Given the description of an element on the screen output the (x, y) to click on. 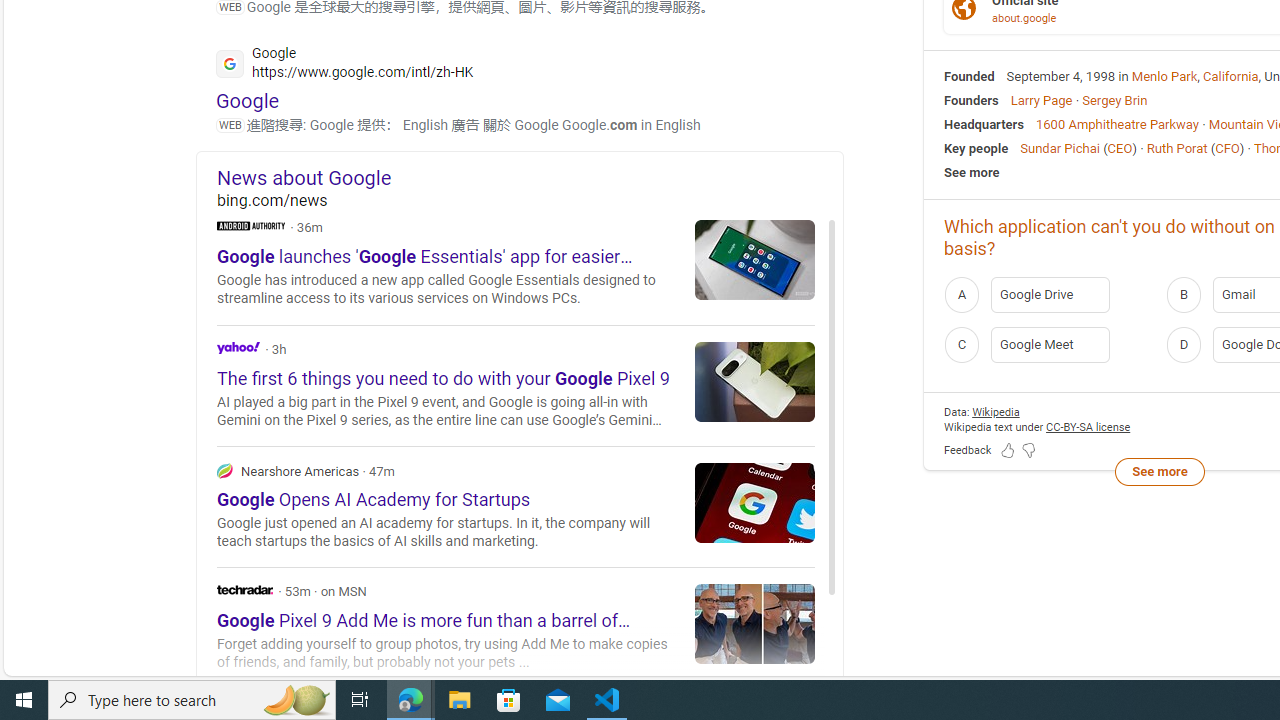
CC-BY-SA license (1088, 426)
Android Authority (251, 224)
TechRadar (244, 589)
Nearshore Americas (516, 506)
C Google Meet (1049, 344)
Feedback Like (1007, 450)
Google (248, 100)
California (1231, 75)
Founders (971, 100)
Menlo Park (1164, 75)
See more (1159, 471)
Larry Page (1040, 100)
Headquarters (984, 123)
